Given the description of an element on the screen output the (x, y) to click on. 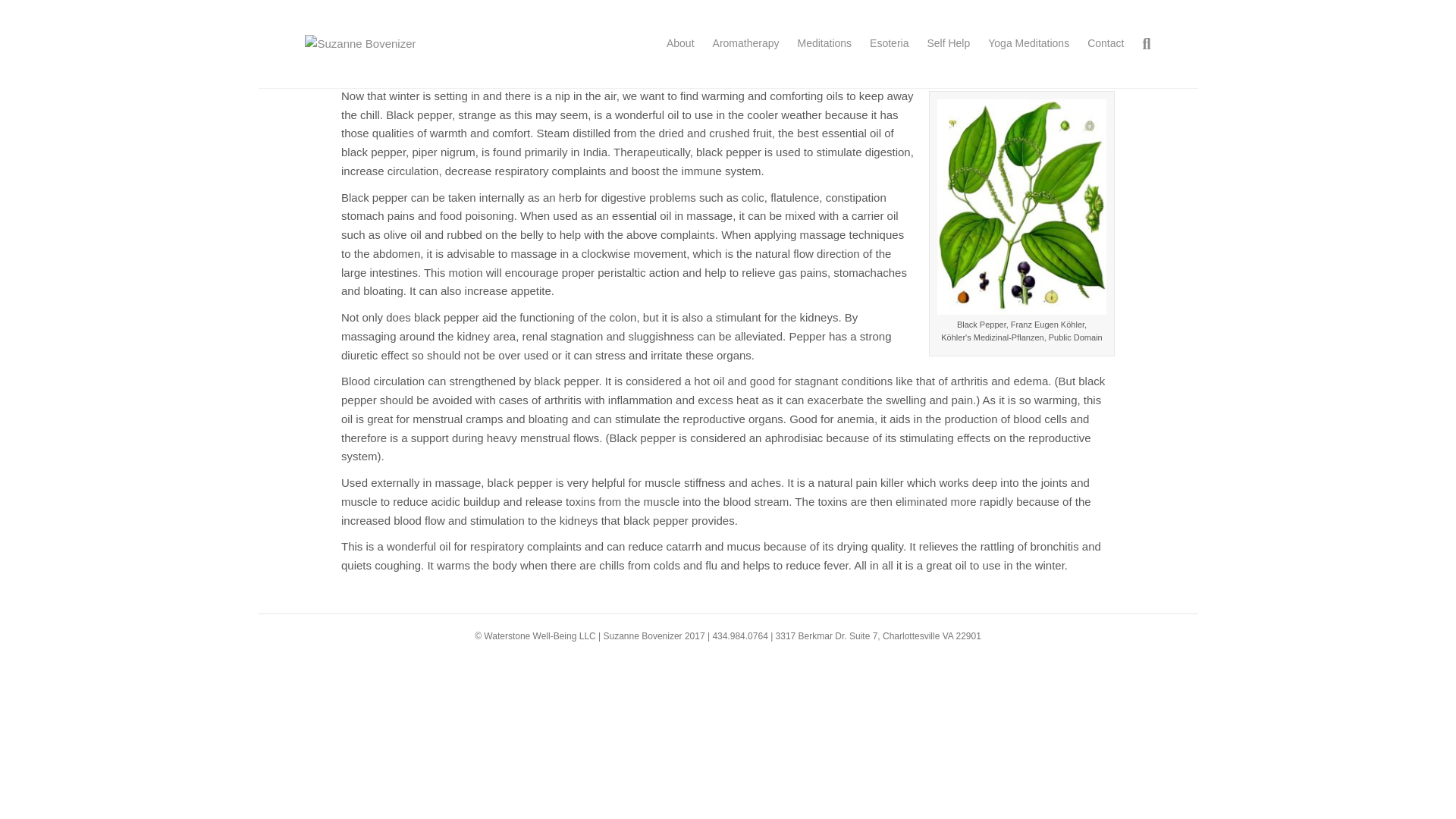
Meditations (823, 44)
Self Help (947, 44)
Yoga Meditations (1028, 44)
Aromatherapy (746, 44)
Contact (1105, 44)
About (680, 44)
Esoteria (888, 44)
